Given the description of an element on the screen output the (x, y) to click on. 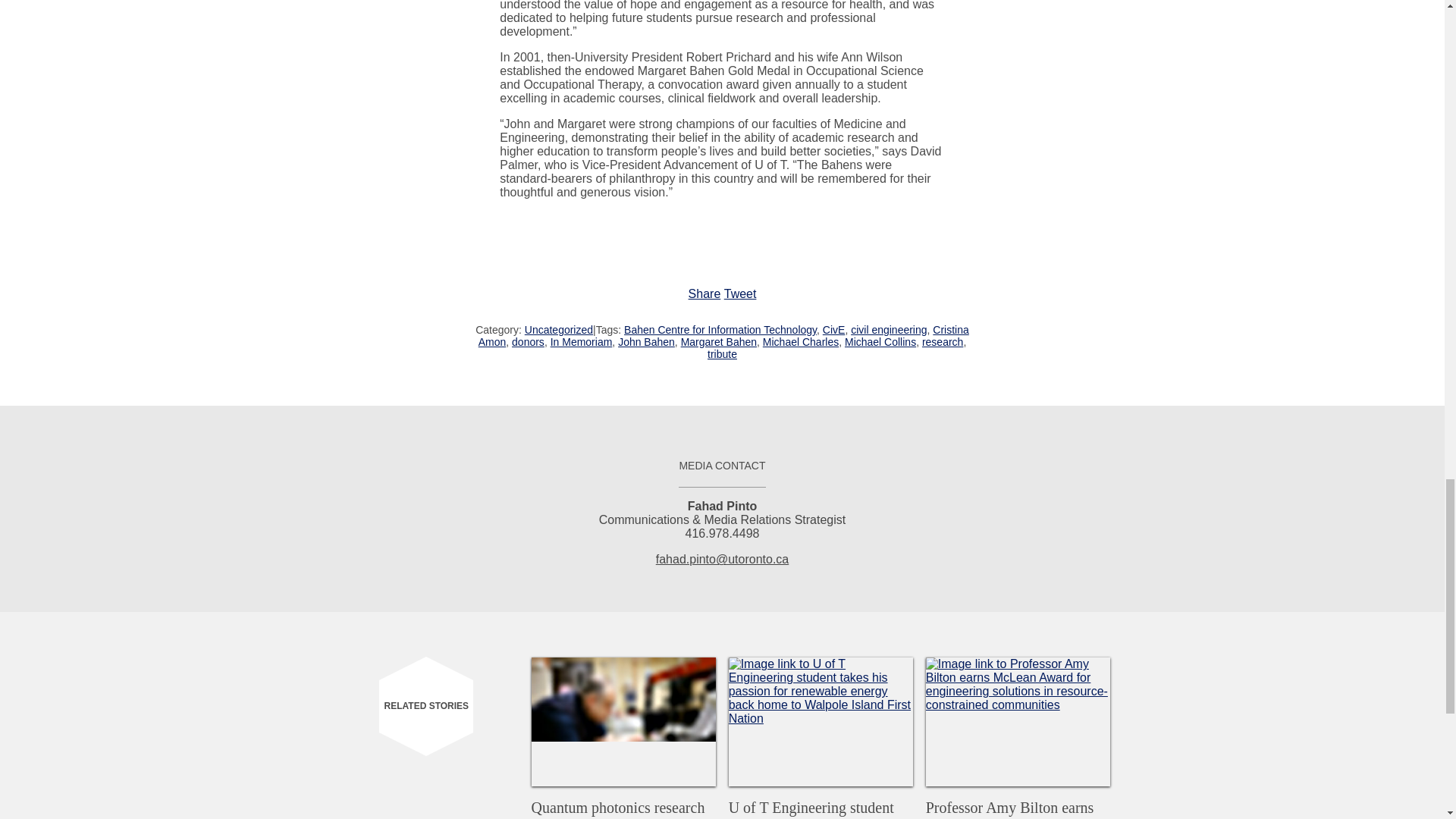
Michael Charles (800, 341)
John Bahen (646, 341)
civil engineering (888, 329)
CivE (833, 329)
Michael Collins (879, 341)
tribute (721, 354)
In Memoriam (581, 341)
donors (528, 341)
Uncategorized (558, 329)
